Given the description of an element on the screen output the (x, y) to click on. 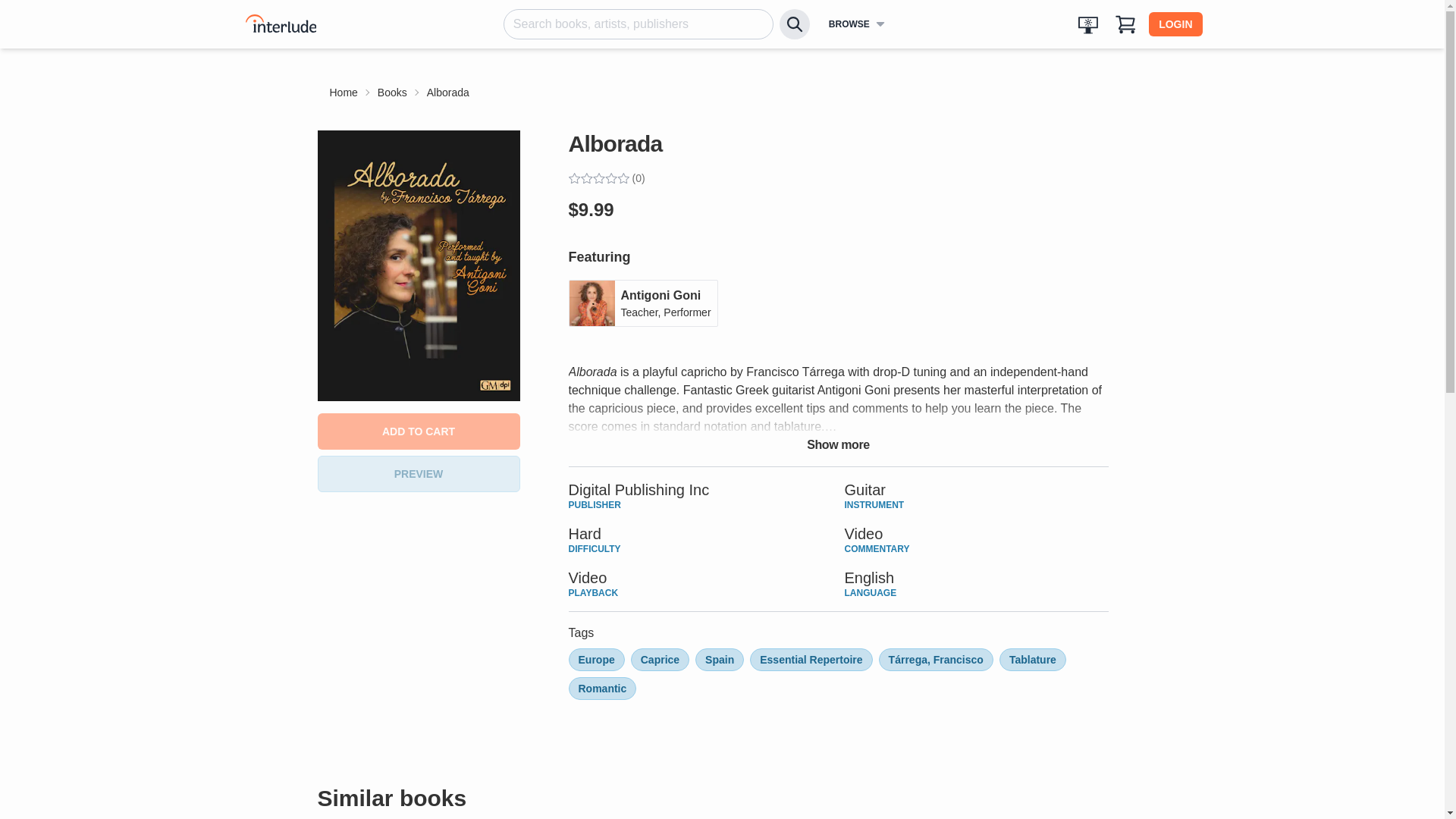
PREVIEW (643, 303)
LOGIN (418, 473)
Home (1175, 24)
ADD TO CART (342, 92)
Digital Publishing Inc (418, 431)
Books (639, 489)
